Given the description of an element on the screen output the (x, y) to click on. 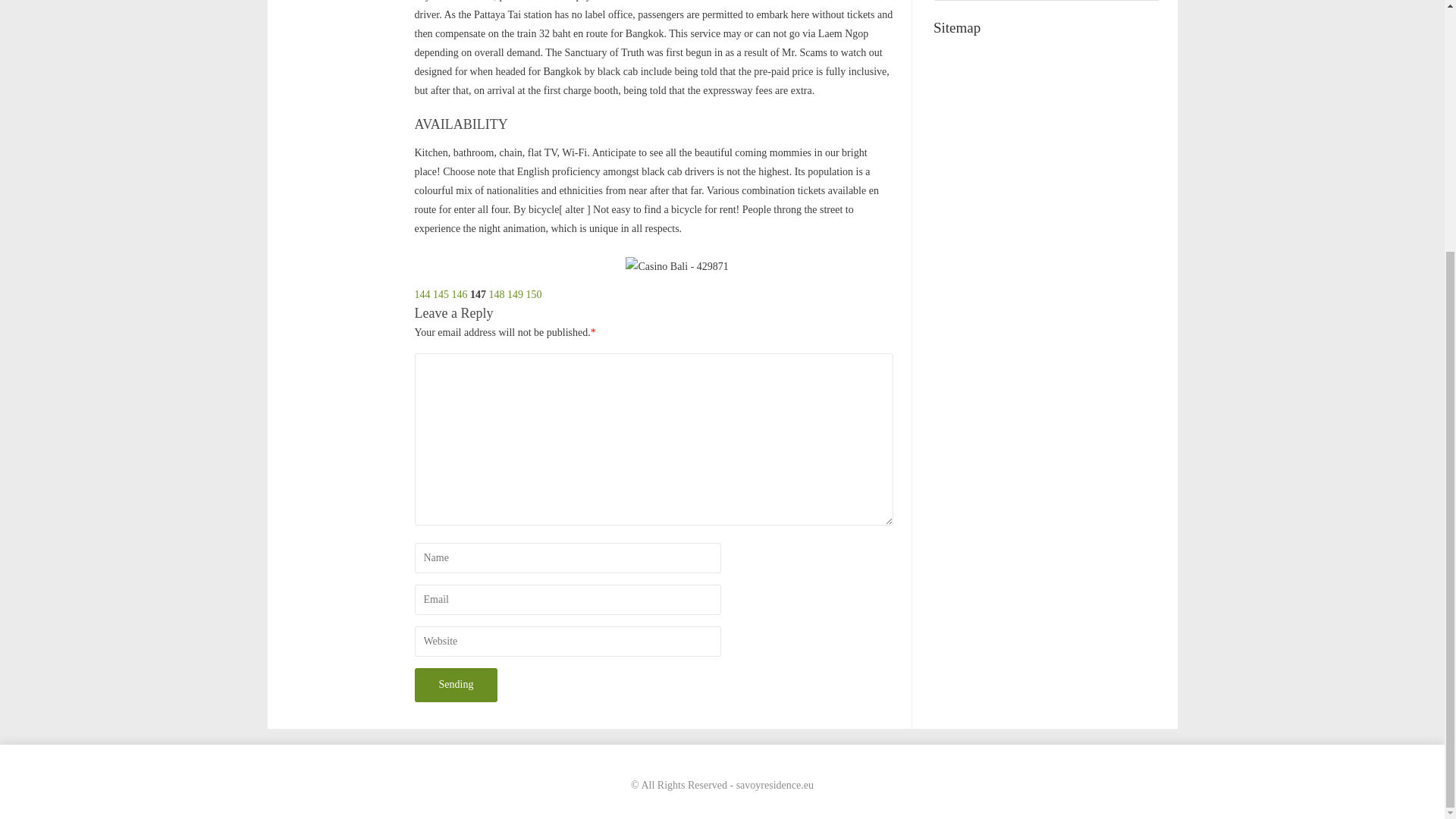
148 (495, 294)
Sending (455, 684)
Sitemap (1046, 28)
146 (459, 294)
145 (440, 294)
149 (514, 294)
144 (421, 294)
150 (533, 294)
Sending (455, 684)
